Given the description of an element on the screen output the (x, y) to click on. 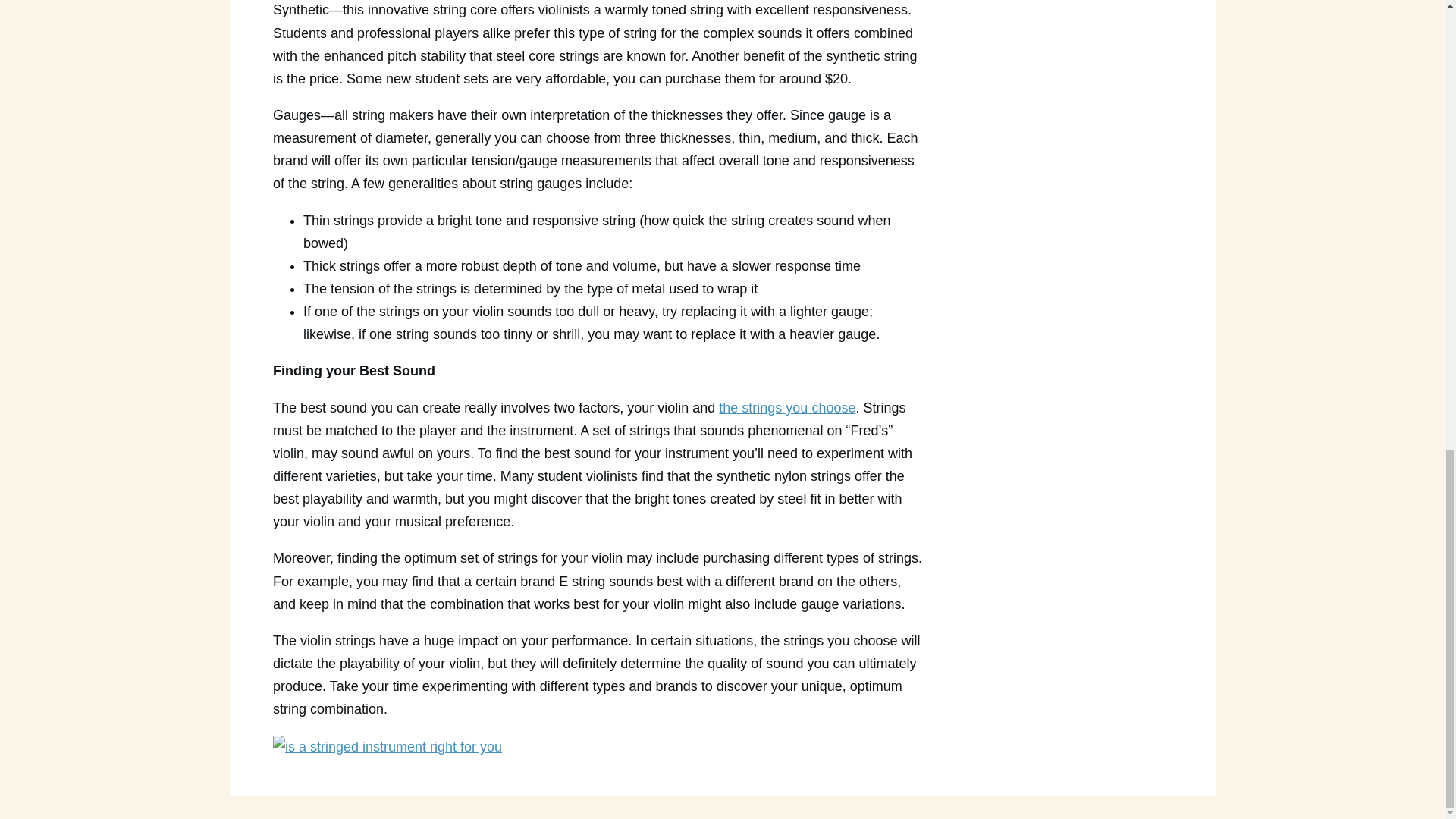
the strings you choose (787, 407)
